Given the description of an element on the screen output the (x, y) to click on. 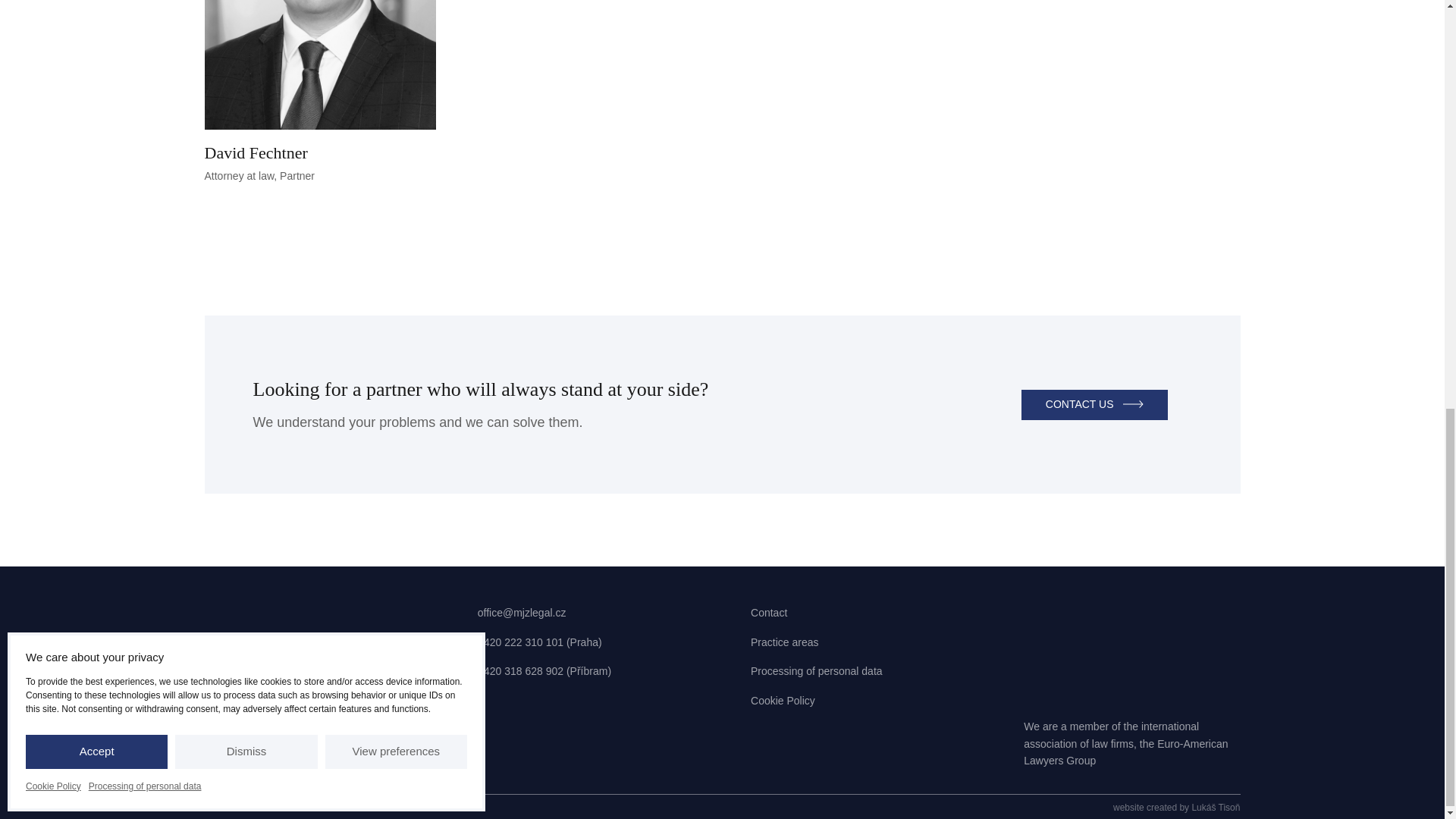
David Fechtner (320, 93)
MJZ-legal white (312, 661)
CONTACT US (320, 93)
